Given the description of an element on the screen output the (x, y) to click on. 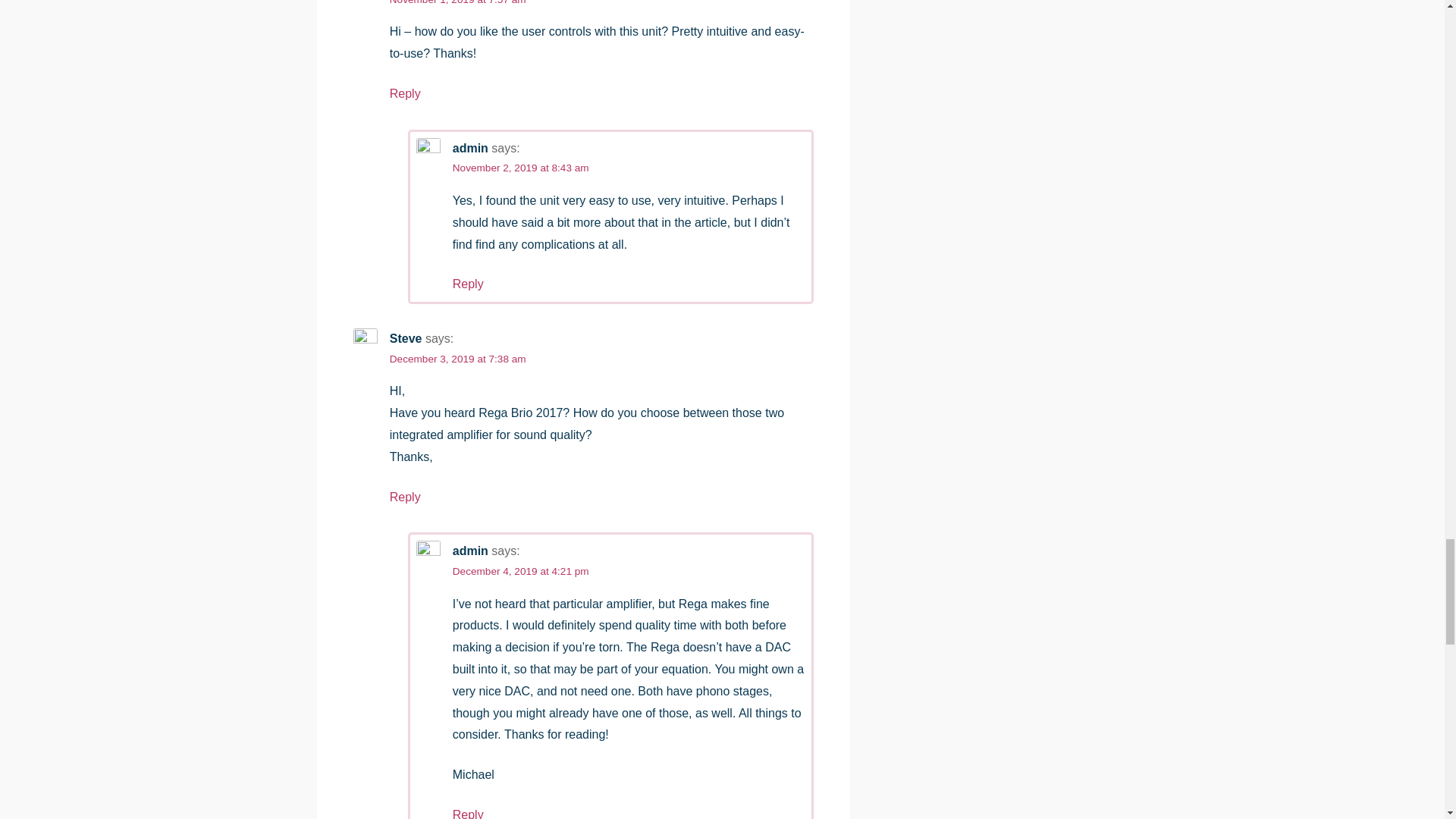
Reply (467, 283)
November 2, 2019 at 8:43 am (520, 167)
November 1, 2019 at 7:57 am (457, 2)
December 4, 2019 at 4:21 pm (520, 571)
December 3, 2019 at 7:38 am (457, 358)
Reply (405, 496)
Reply (467, 813)
Reply (405, 92)
